Given the description of an element on the screen output the (x, y) to click on. 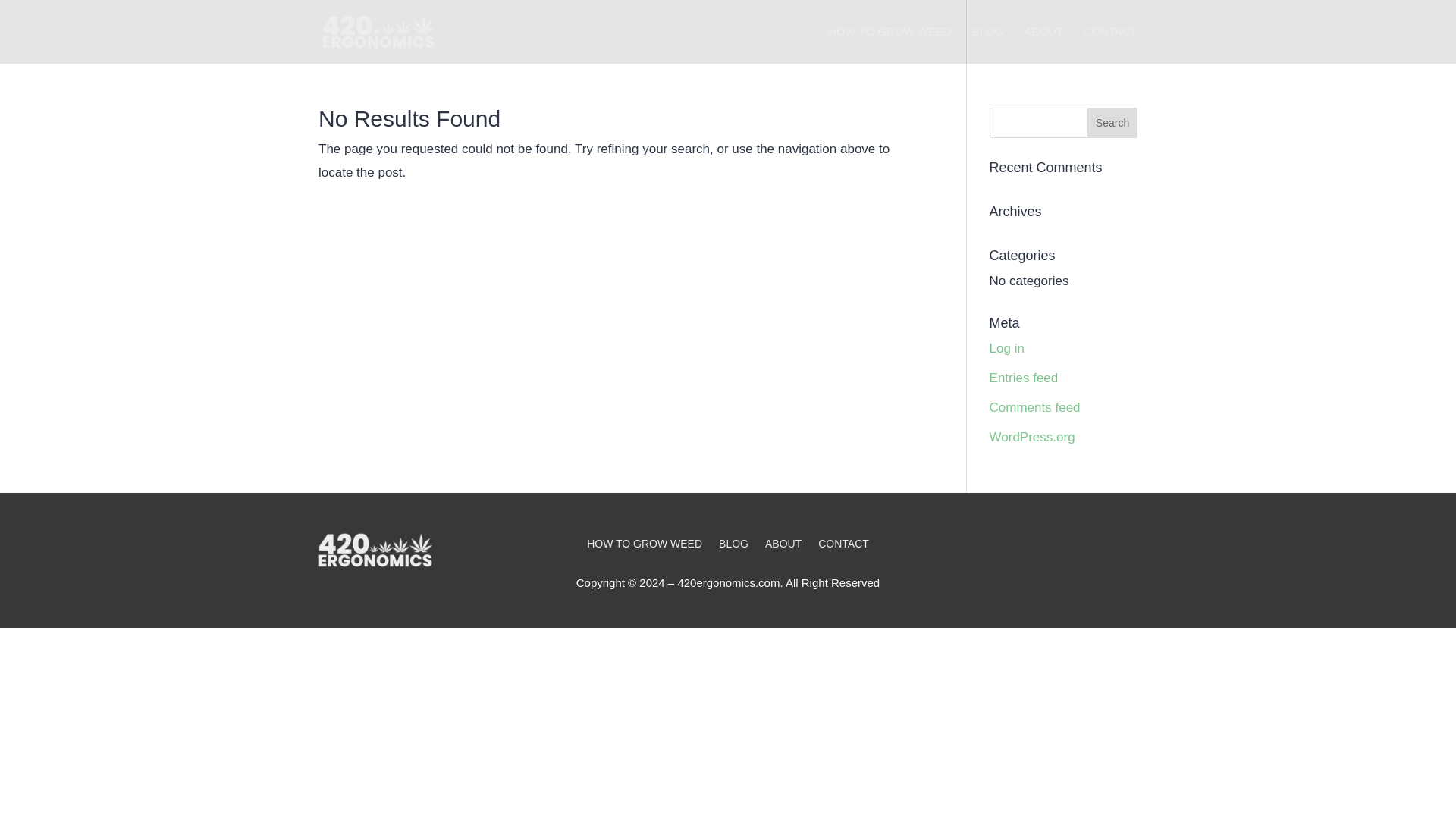
ABOUT (783, 546)
Entries feed (1024, 377)
WordPress.org (1032, 436)
Search (1112, 122)
CONTACT (1110, 44)
Comments feed (1035, 407)
ABOUT (1042, 44)
Log in (1007, 348)
BLOG (988, 44)
CONTACT (843, 546)
HOW TO GROW WEED (643, 546)
HOW TO GROW WEED (890, 44)
Search (1112, 122)
BLOG (733, 546)
